Given the description of an element on the screen output the (x, y) to click on. 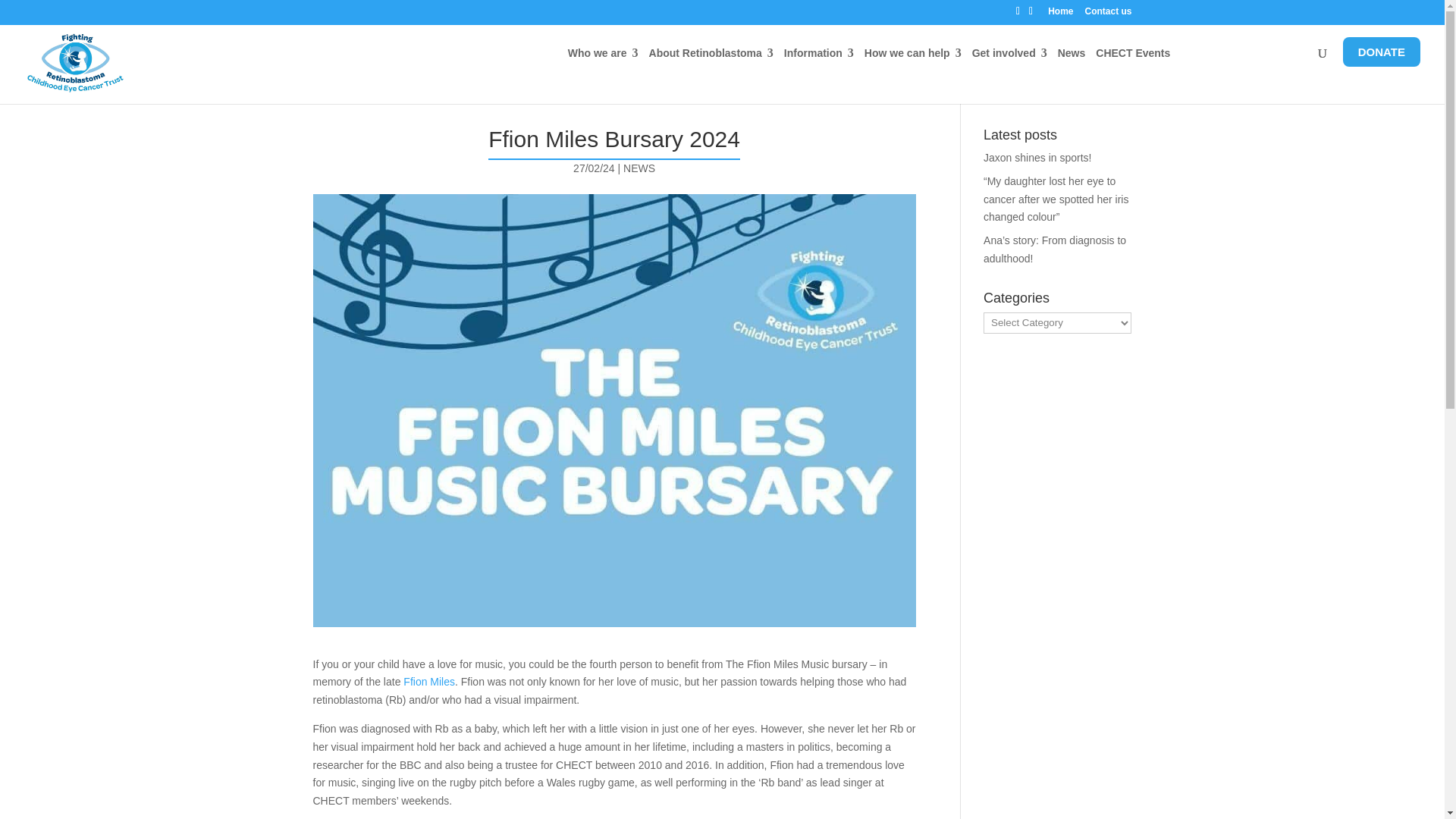
Contact us (1107, 14)
Information (818, 60)
Get involved (1009, 60)
About Retinoblastoma (711, 60)
Who we are (603, 60)
How we can help (912, 60)
DONATE (1381, 51)
Home (1060, 14)
